Given the description of an element on the screen output the (x, y) to click on. 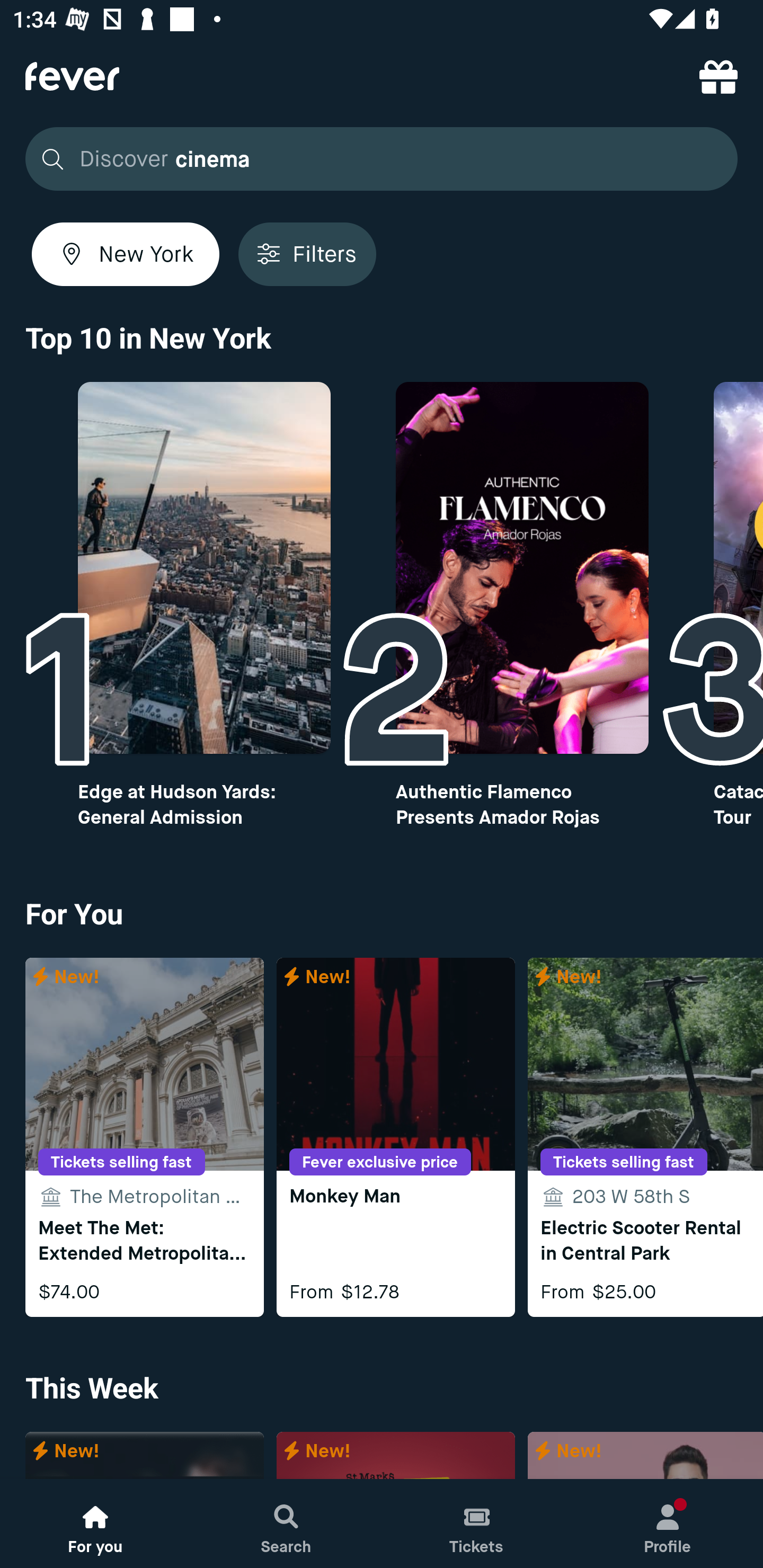
referral (718, 75)
Discover cinema (381, 158)
Discover cinema (376, 158)
New York (125, 253)
Filters (307, 253)
Top10 image (203, 568)
Top10 image (521, 568)
Search (285, 1523)
Tickets (476, 1523)
Profile, New notification Profile (667, 1523)
